Given the description of an element on the screen output the (x, y) to click on. 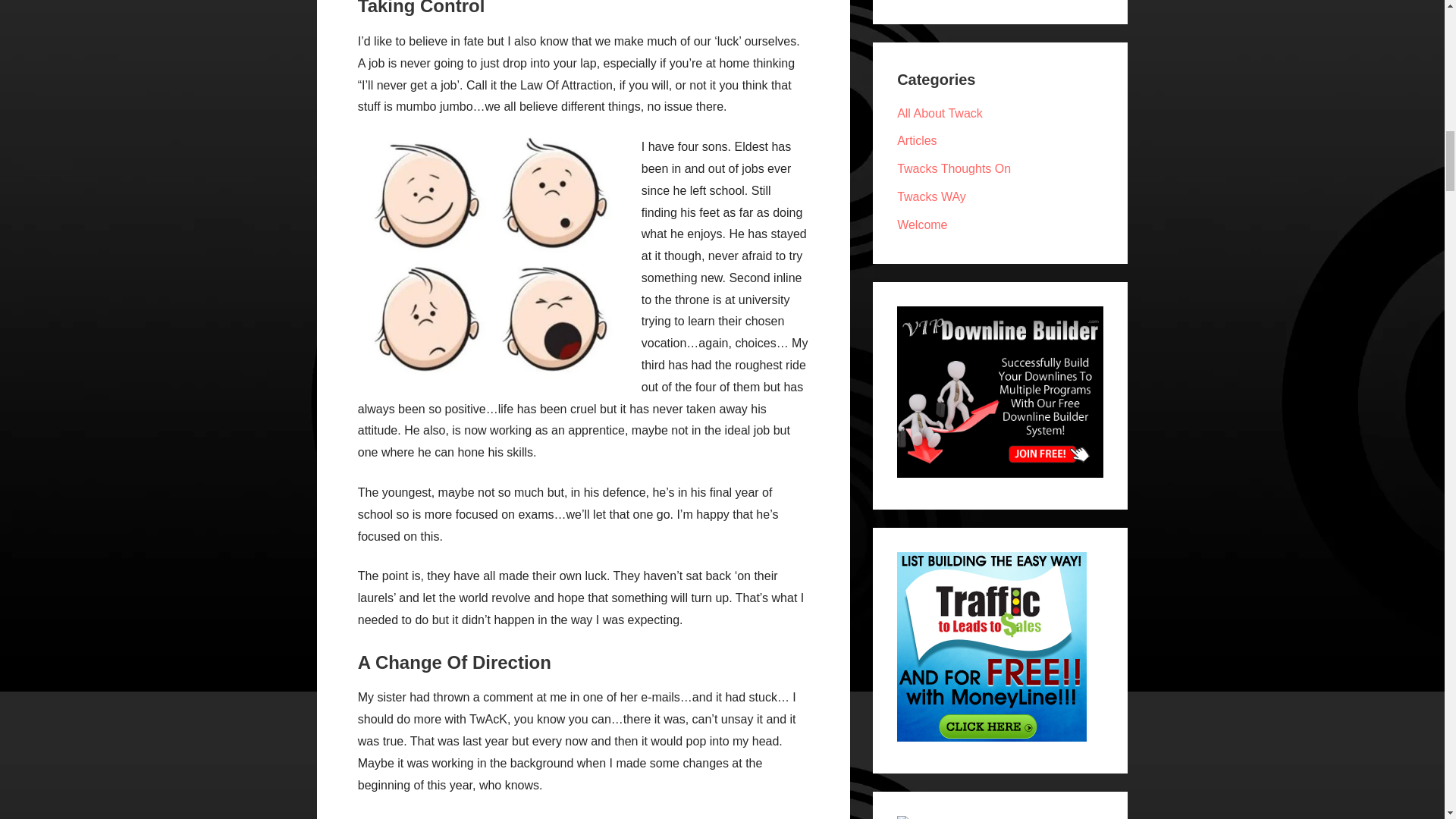
Four boys (490, 260)
